Given the description of an element on the screen output the (x, y) to click on. 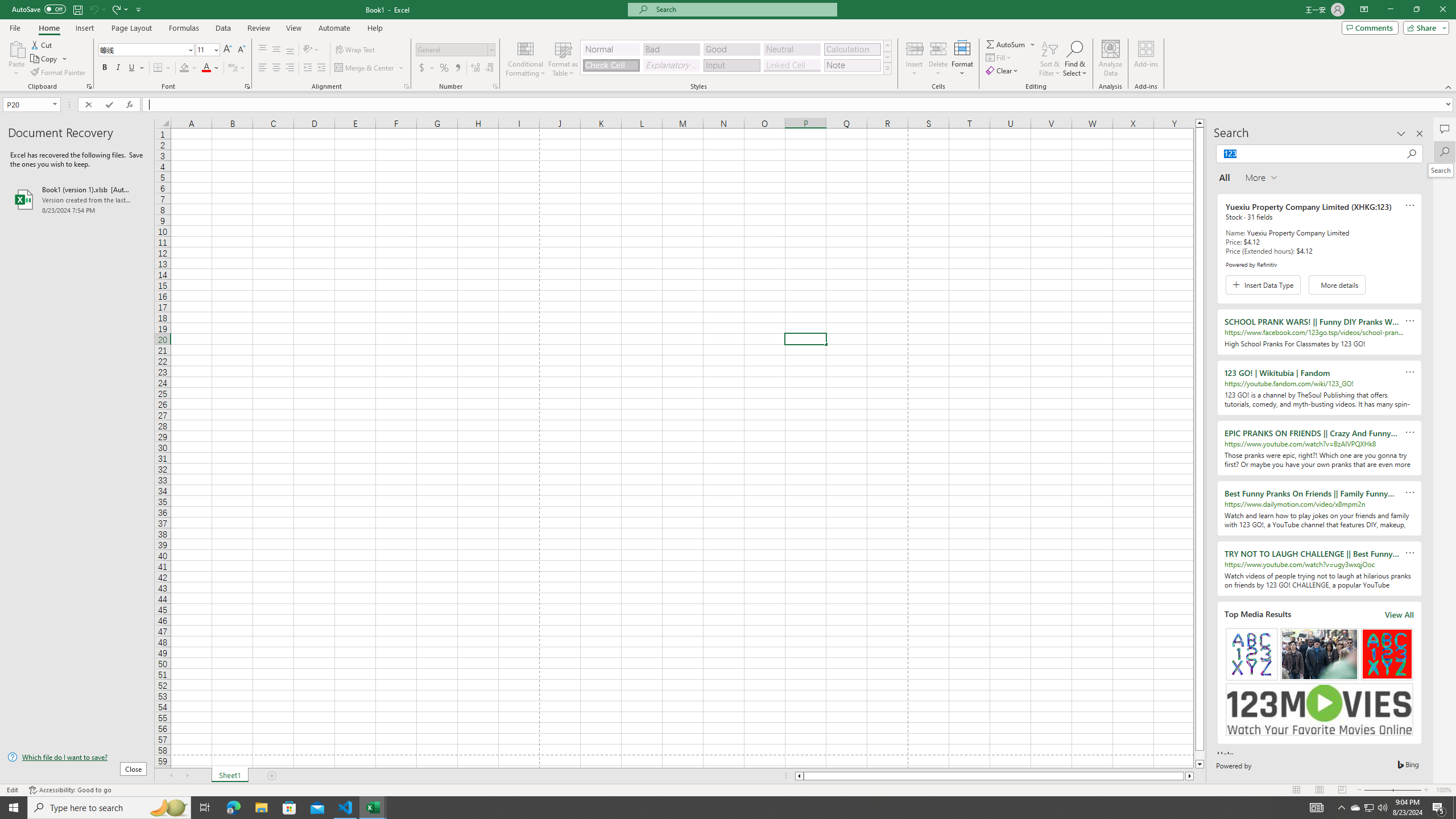
Format Cell Alignment (405, 85)
Number Format (455, 49)
Align Right (290, 67)
Comma Style (457, 67)
Underline (131, 67)
Insert Cells (914, 48)
Merge & Center (369, 67)
